Given the description of an element on the screen output the (x, y) to click on. 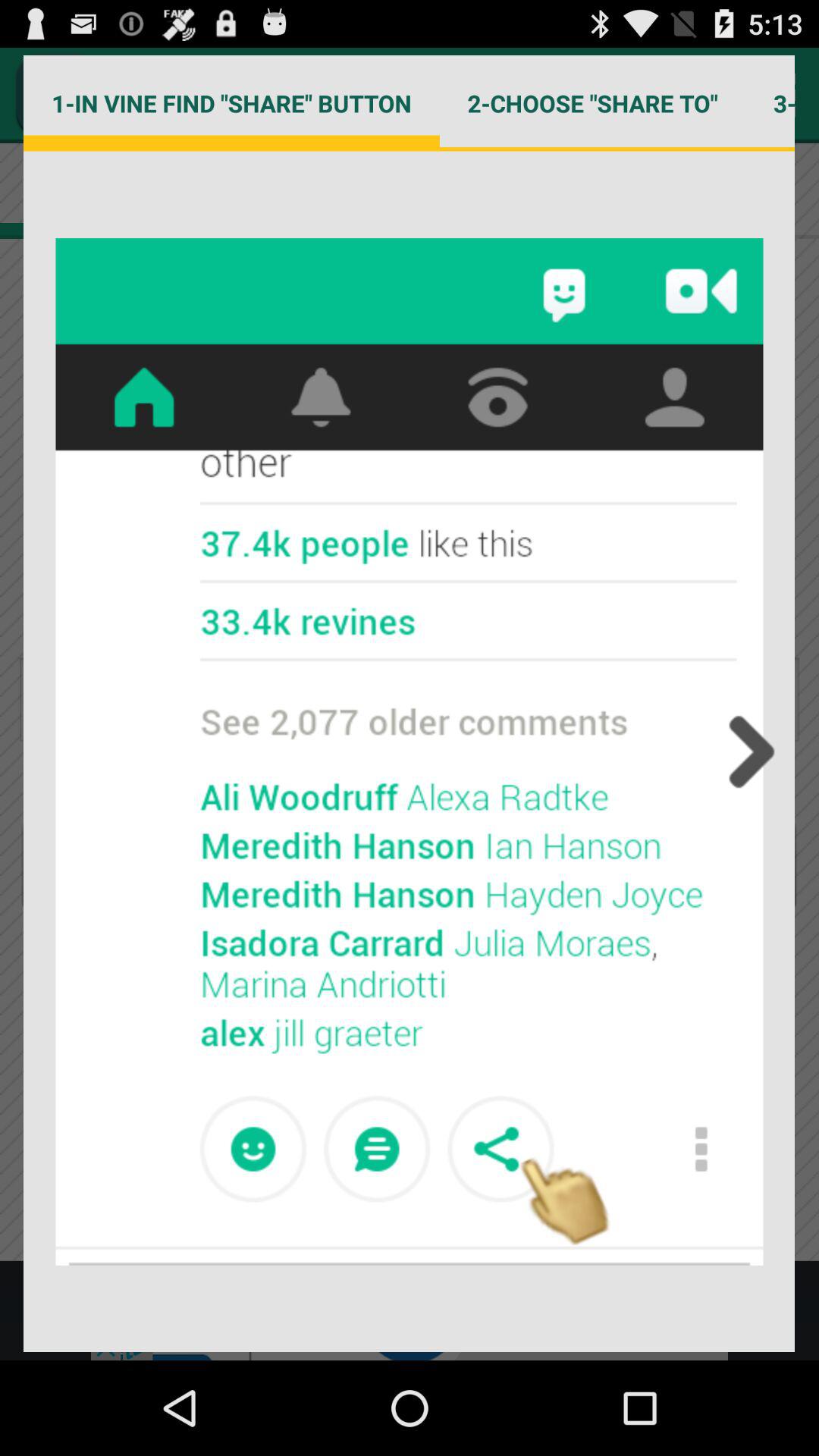
choose the item below 2 choose share app (747, 751)
